Given the description of an element on the screen output the (x, y) to click on. 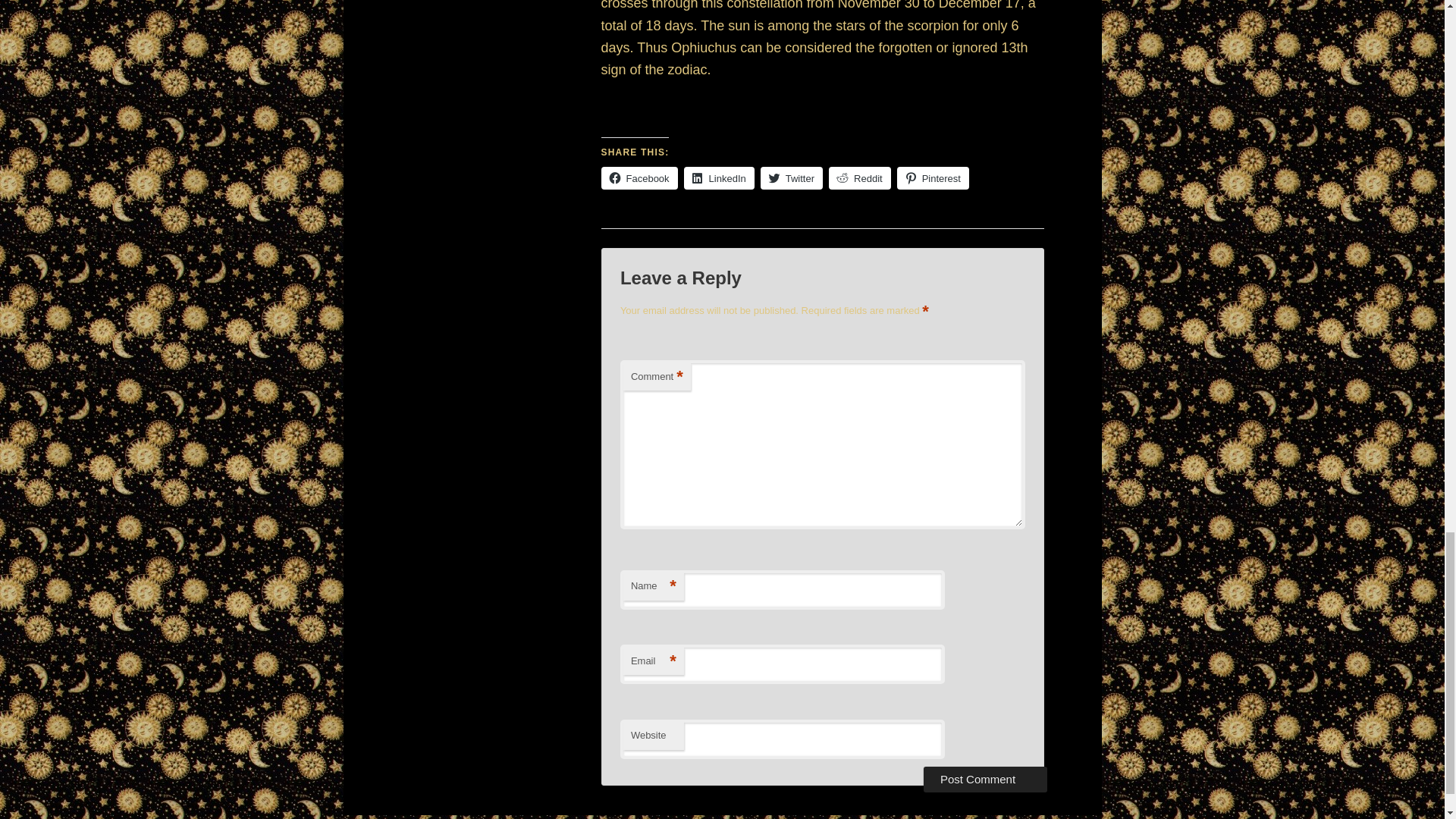
Click to share on Pinterest (932, 178)
Click to share on Twitter (791, 178)
Post Comment (984, 779)
Click to share on Facebook (638, 178)
Post Comment (984, 779)
Pinterest (932, 178)
Reddit (859, 178)
Facebook (638, 178)
Twitter (791, 178)
LinkedIn (719, 178)
Click to share on LinkedIn (719, 178)
Click to share on Reddit (859, 178)
